Given the description of an element on the screen output the (x, y) to click on. 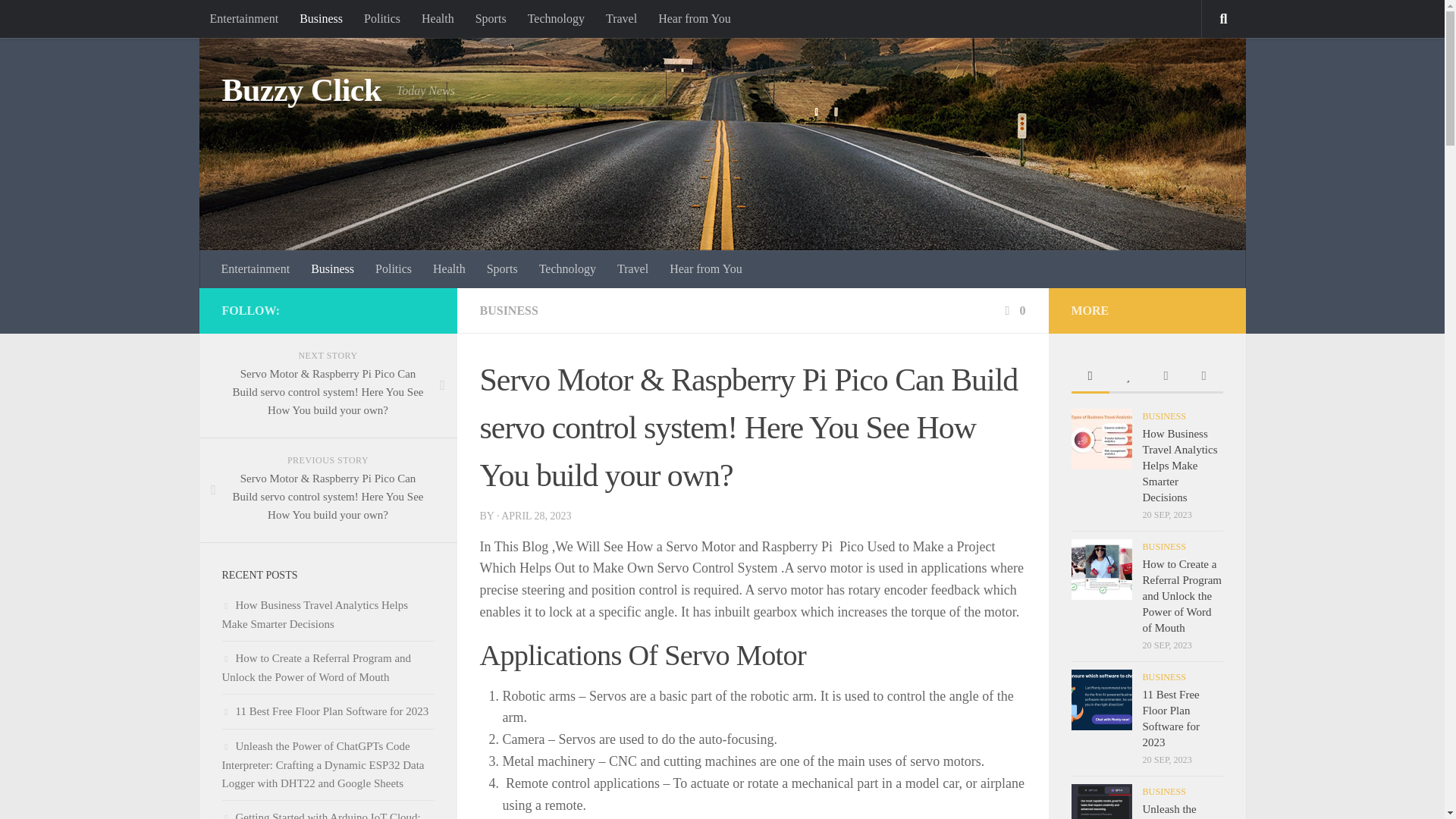
Politics (381, 18)
Business (332, 269)
Hear from You (705, 269)
0 (1013, 309)
Buzzy Click (300, 90)
Travel (633, 269)
Sports (490, 18)
Technology (555, 18)
Health (449, 269)
Travel (621, 18)
Business (320, 18)
Entertainment (256, 269)
BUSINESS (508, 309)
Sports (502, 269)
Health (437, 18)
